Given the description of an element on the screen output the (x, y) to click on. 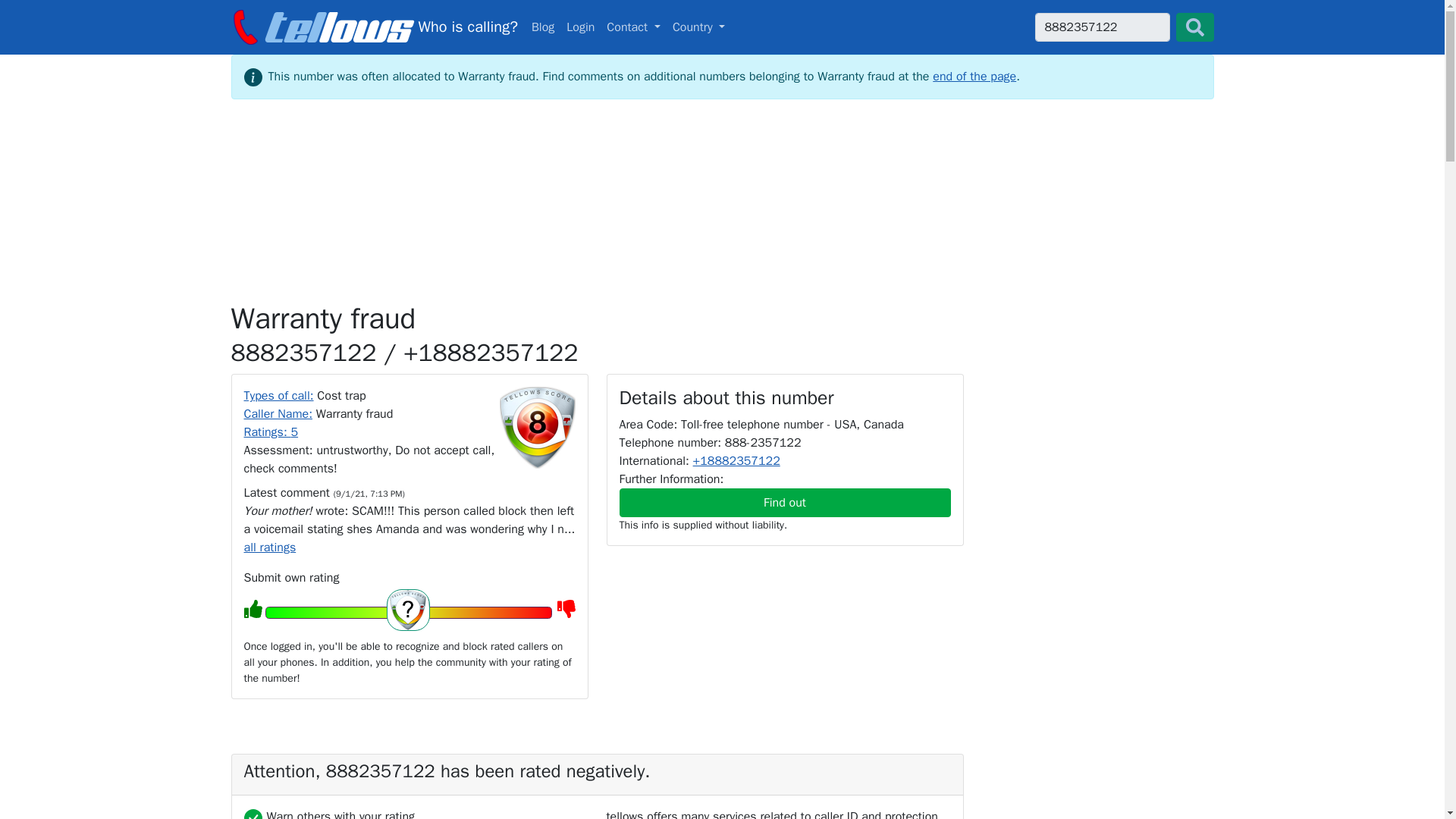
Ratings: 5 (271, 432)
tellows - the community for calls, phone spam and complaints (373, 26)
8882357122 (1101, 27)
end of the page (974, 76)
5 (407, 612)
Find out (784, 502)
all ratings (270, 547)
Contact (632, 27)
Login (579, 27)
Blog (542, 27)
